Given the description of an element on the screen output the (x, y) to click on. 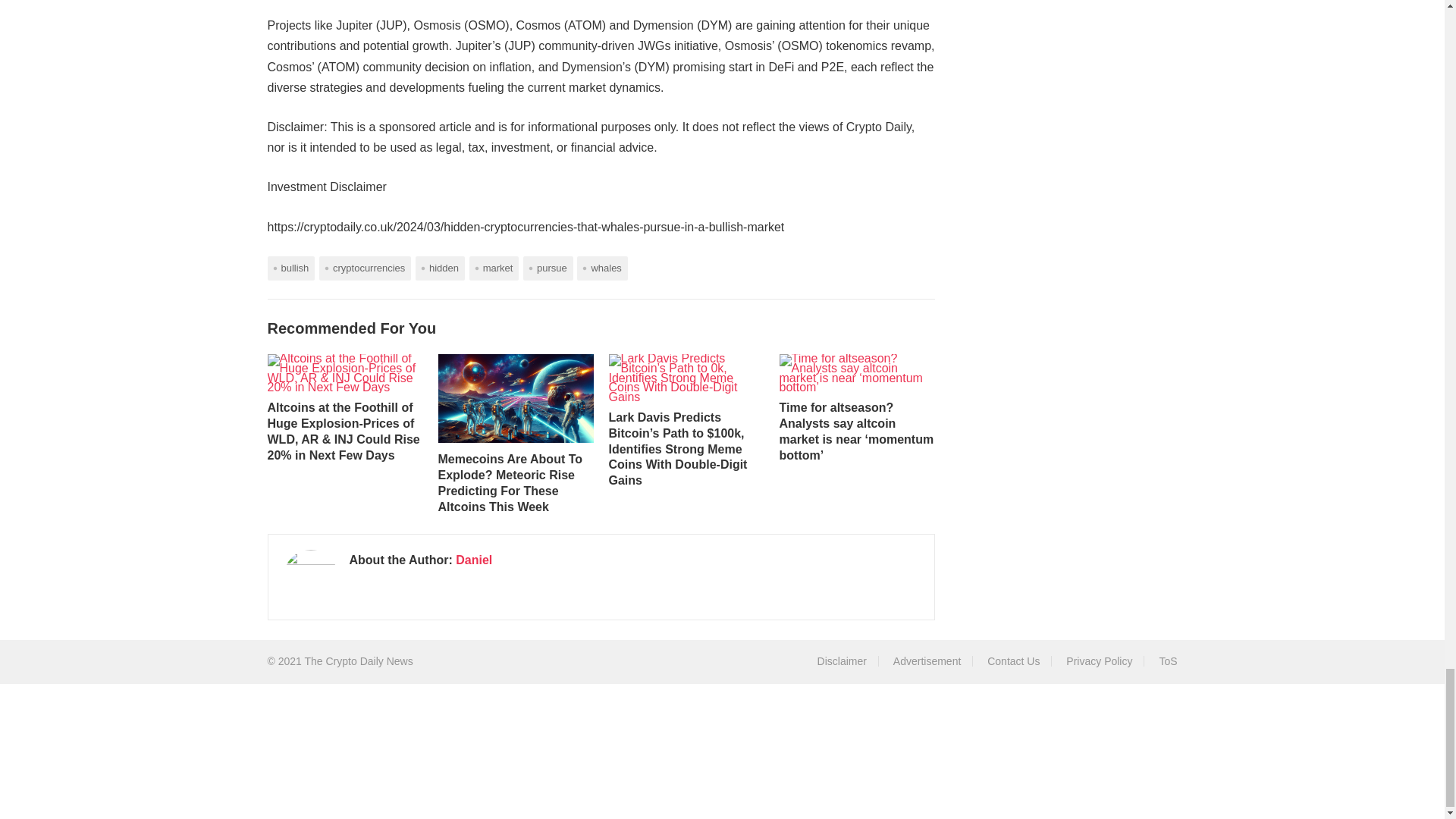
hidden (439, 268)
pursue (547, 268)
whales (601, 268)
cryptocurrencies (364, 268)
market (493, 268)
bullish (290, 268)
